Given the description of an element on the screen output the (x, y) to click on. 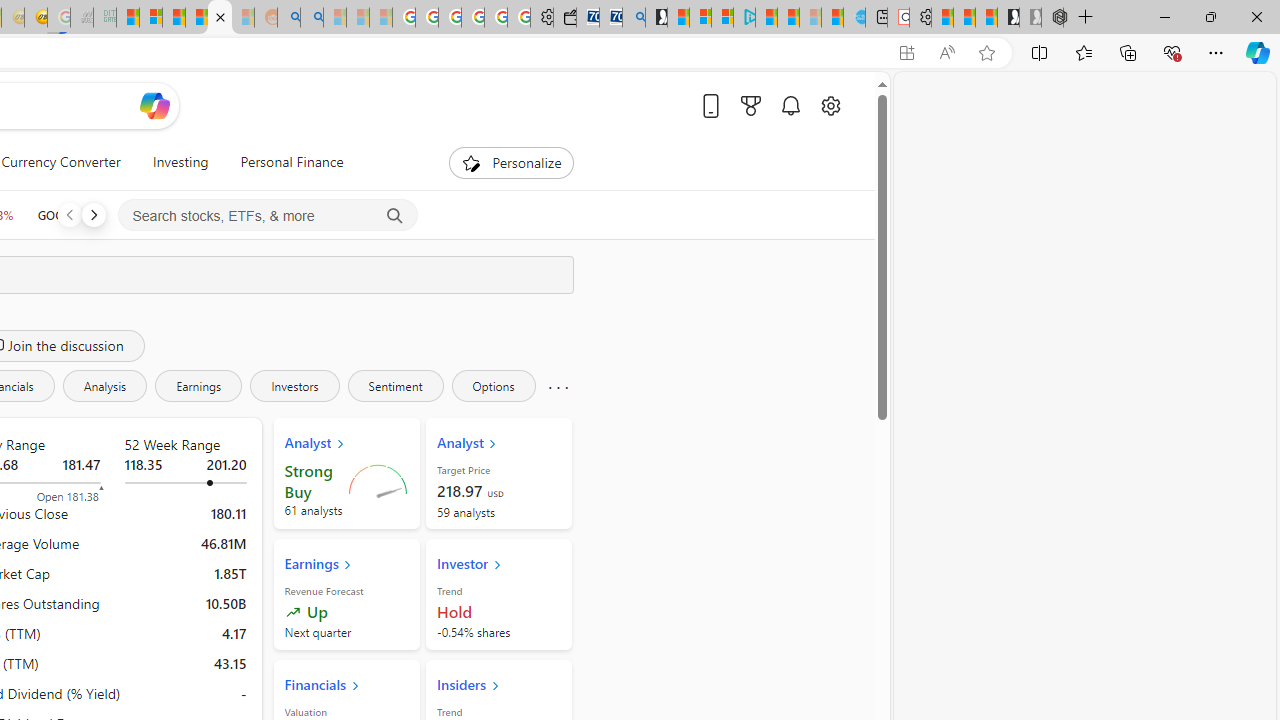
Personal Finance (284, 162)
Sentiment (395, 385)
GOOG ALPHABET INC. decrease 165.49 -2.14 -1.28% (84, 214)
Search stocks, ETFs, & more (267, 215)
